Given the description of an element on the screen output the (x, y) to click on. 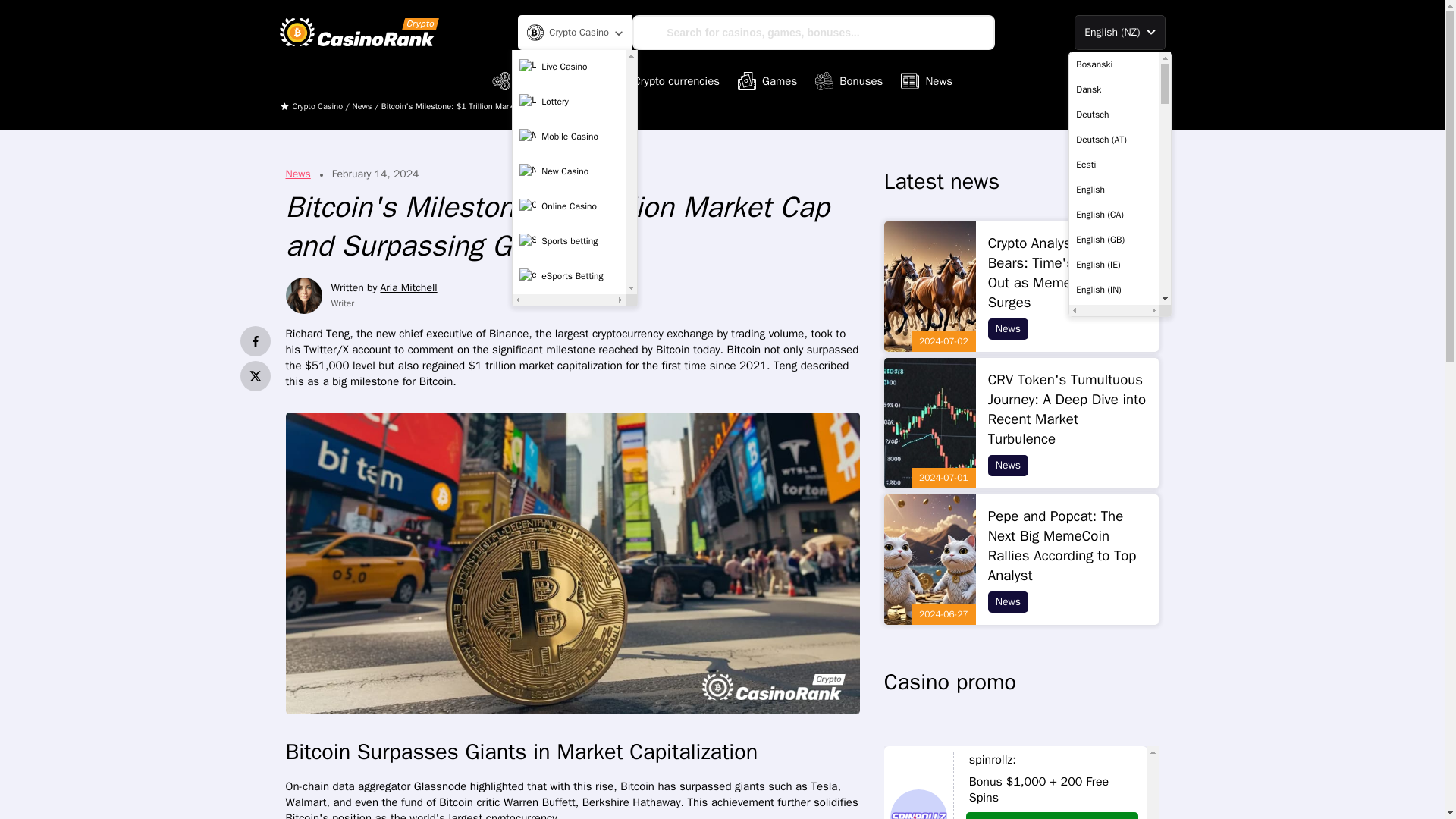
New Casino (569, 172)
Bosanski (1113, 63)
Online Casino (569, 206)
eSports Betting (569, 276)
Lottery (569, 102)
Melayu (1113, 810)
Dansk (1113, 89)
Indonesia (1113, 690)
Sports betting (569, 241)
Mobile Casino (569, 136)
Hrvatski (1113, 664)
Magyar (1113, 790)
English (1113, 189)
Italiano (1113, 714)
Eesti (1113, 163)
